Given the description of an element on the screen output the (x, y) to click on. 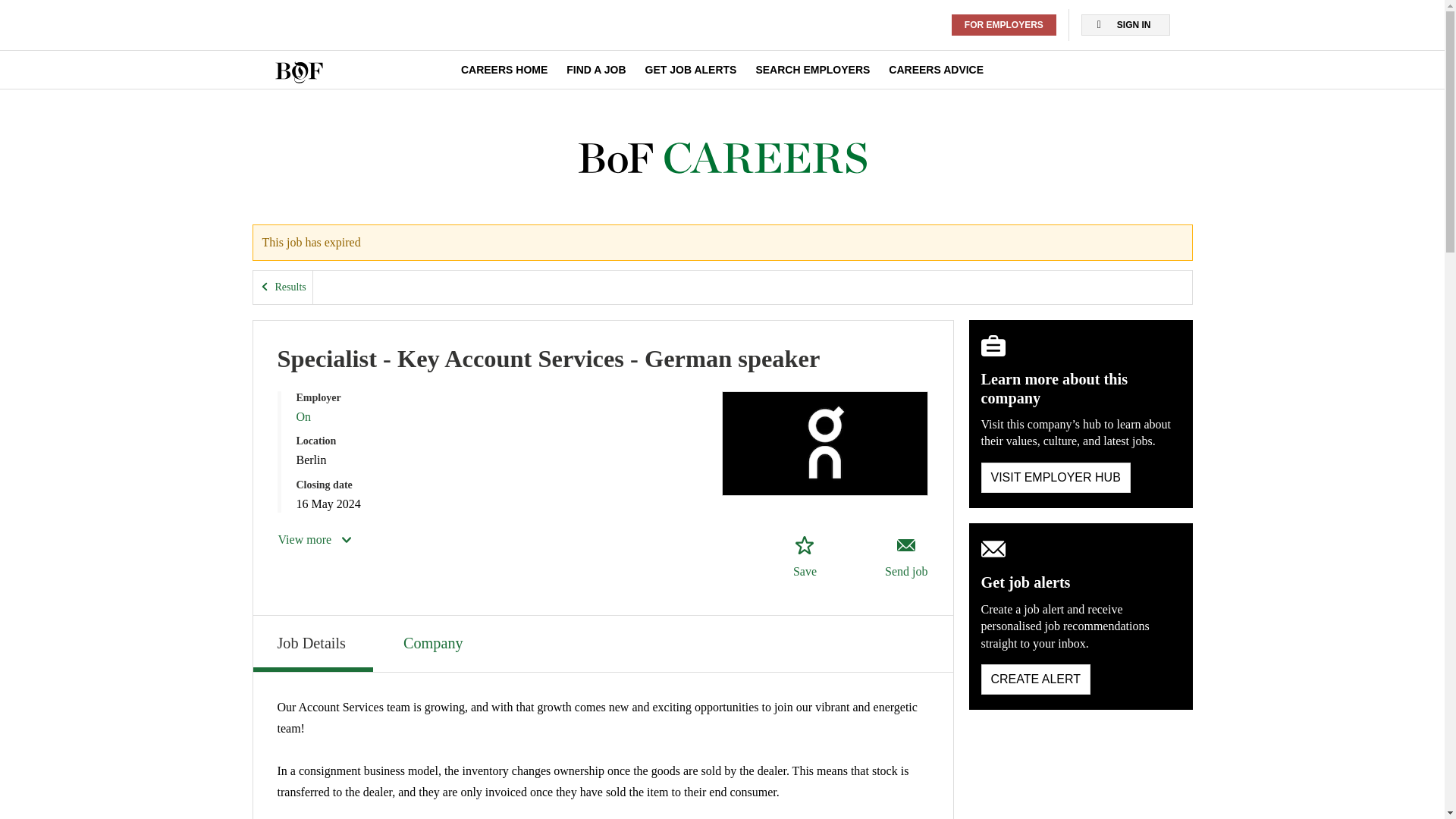
FOR EMPLOYERS (1004, 25)
On (303, 416)
CAREERS HOME (504, 69)
Results (283, 287)
View more (315, 539)
SIGN IN (1125, 25)
GET JOB ALERTS (690, 69)
SEARCH EMPLOYERS (812, 69)
Company (434, 641)
VISIT EMPLOYER HUB (1056, 477)
Job Details (312, 643)
CREATE ALERT (1035, 679)
CAREERS ADVICE (936, 69)
FIND A JOB (596, 69)
BoF Careers (722, 158)
